Given the description of an element on the screen output the (x, y) to click on. 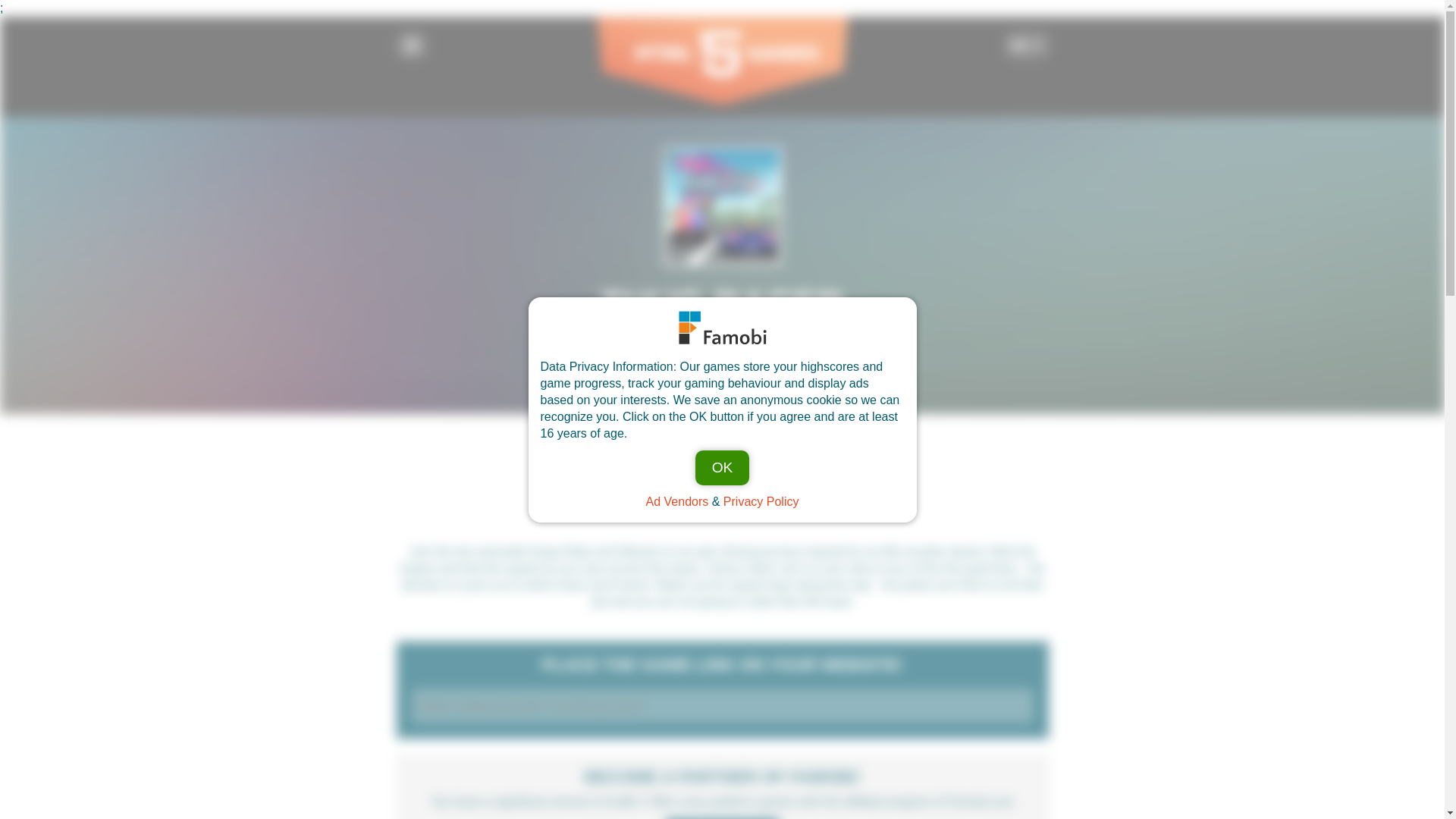
3rd party ad content (721, 478)
Play (721, 364)
OK (722, 467)
on (418, 51)
Ad Vendors (677, 500)
Privacy Policy (761, 500)
